Given the description of an element on the screen output the (x, y) to click on. 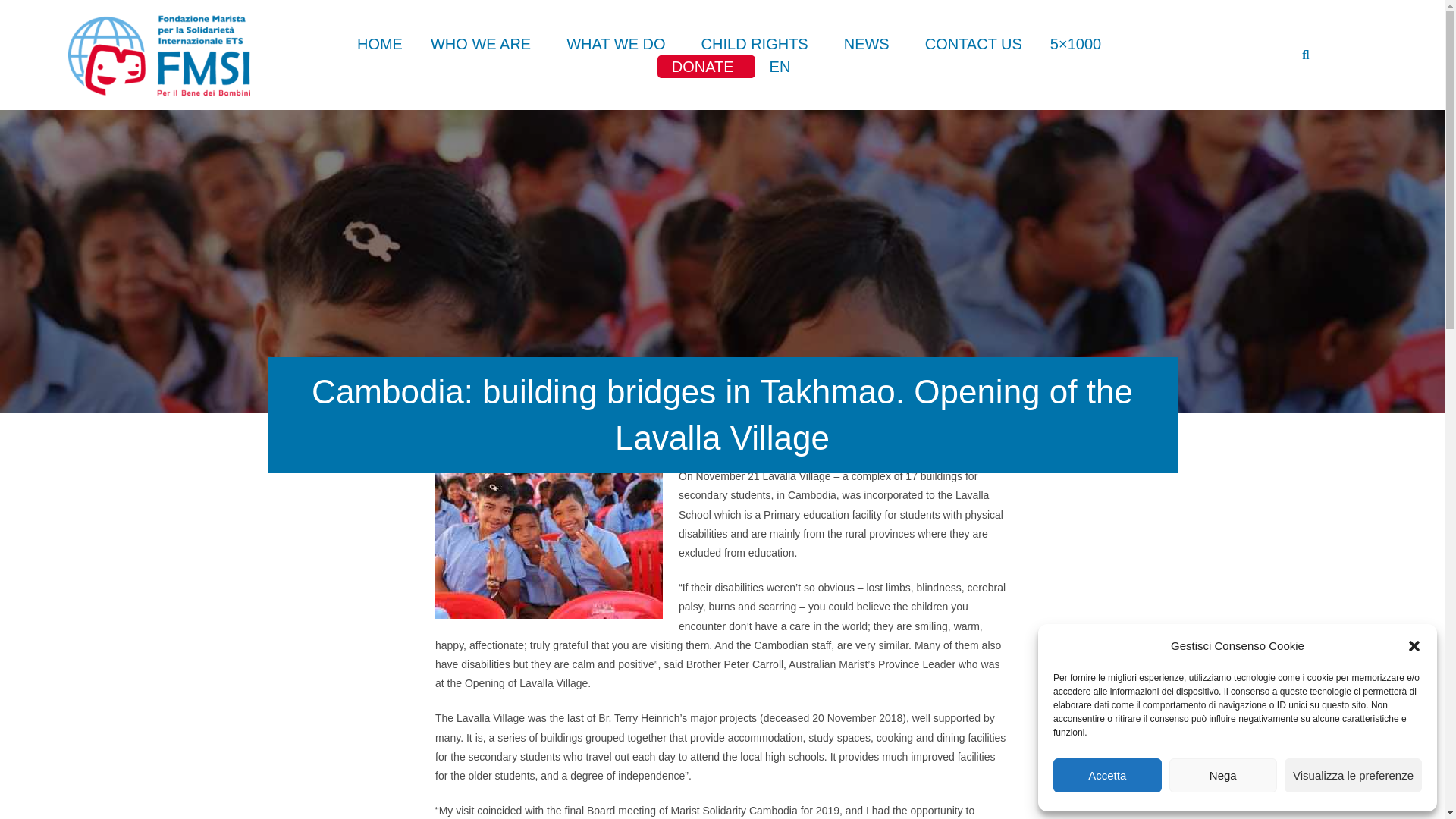
Nega (1223, 775)
CONTACT US (972, 43)
CHILD RIGHTS (758, 43)
Visualizza le preferenze (1353, 775)
Accetta (1106, 775)
WHO WE ARE (484, 43)
DONATE (706, 66)
HOME (379, 43)
WHAT WE DO (619, 43)
NEWS (869, 43)
